Given the description of an element on the screen output the (x, y) to click on. 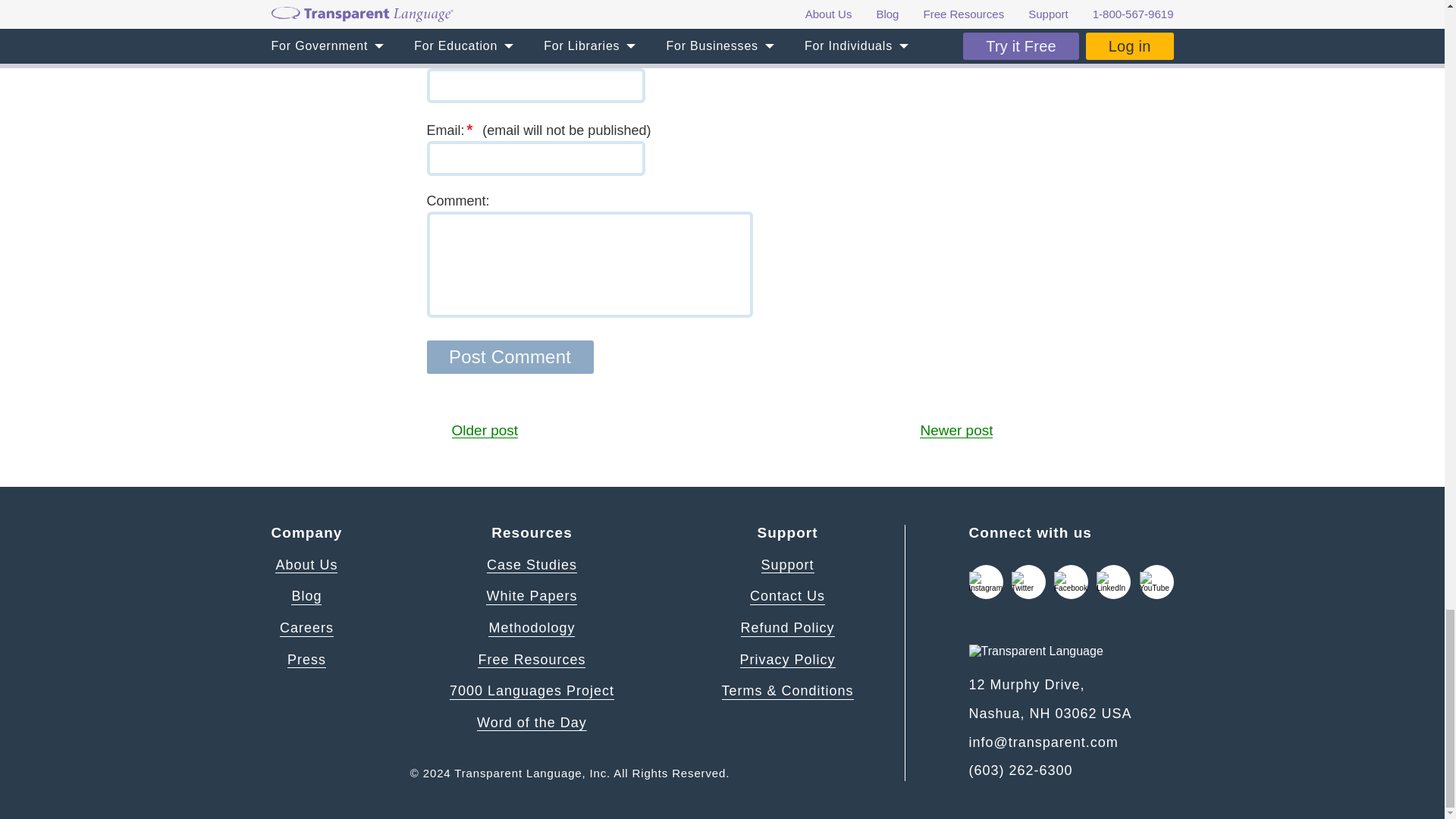
Twitter (1028, 581)
Instagram (986, 581)
YouTube (1155, 581)
LinkedIn (1113, 581)
Post Comment (509, 356)
Facebook (1070, 581)
